Given the description of an element on the screen output the (x, y) to click on. 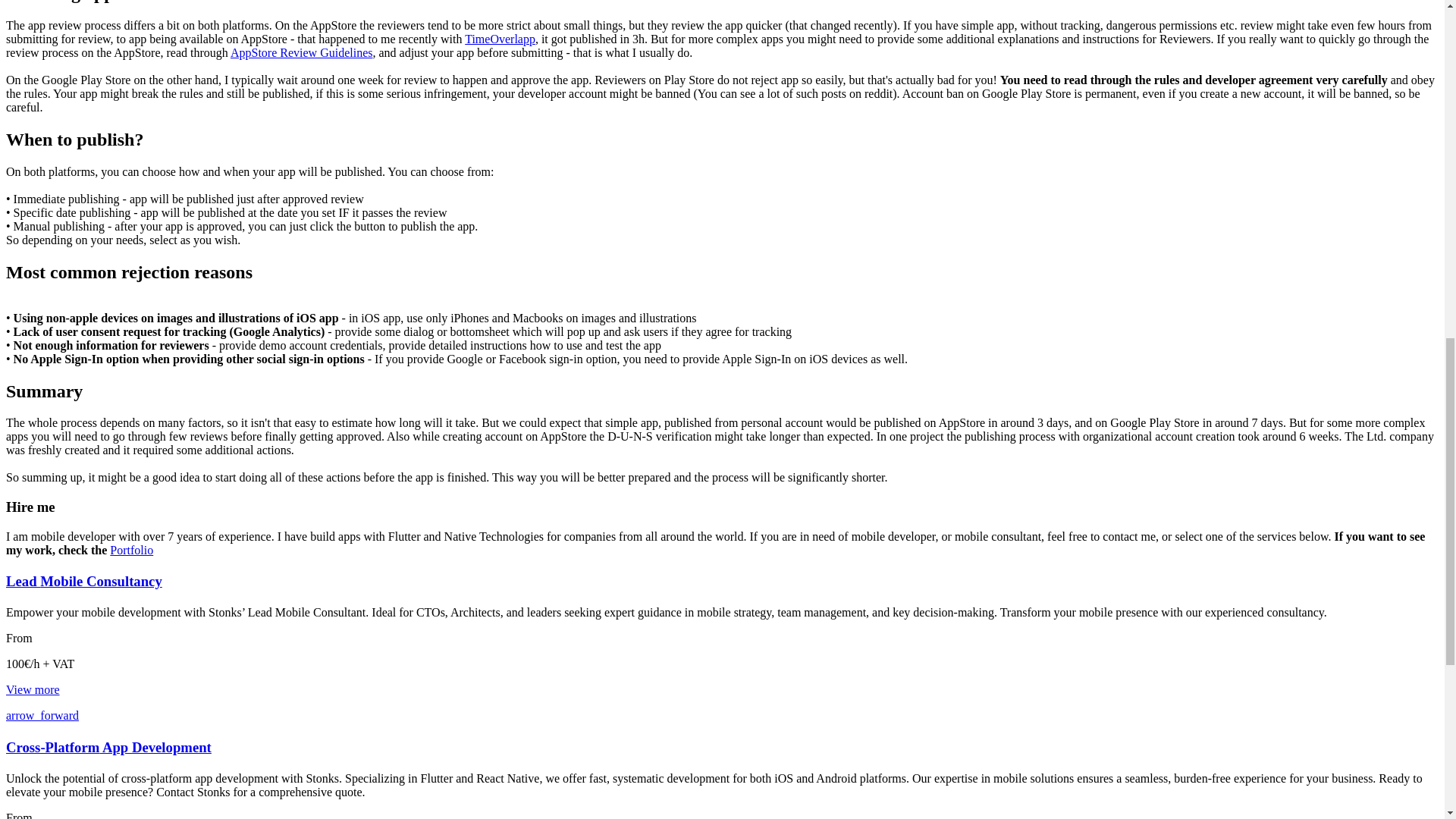
AppStore Review Guidelines (301, 51)
Portfolio (131, 549)
TimeOverlapp (499, 38)
